Given the description of an element on the screen output the (x, y) to click on. 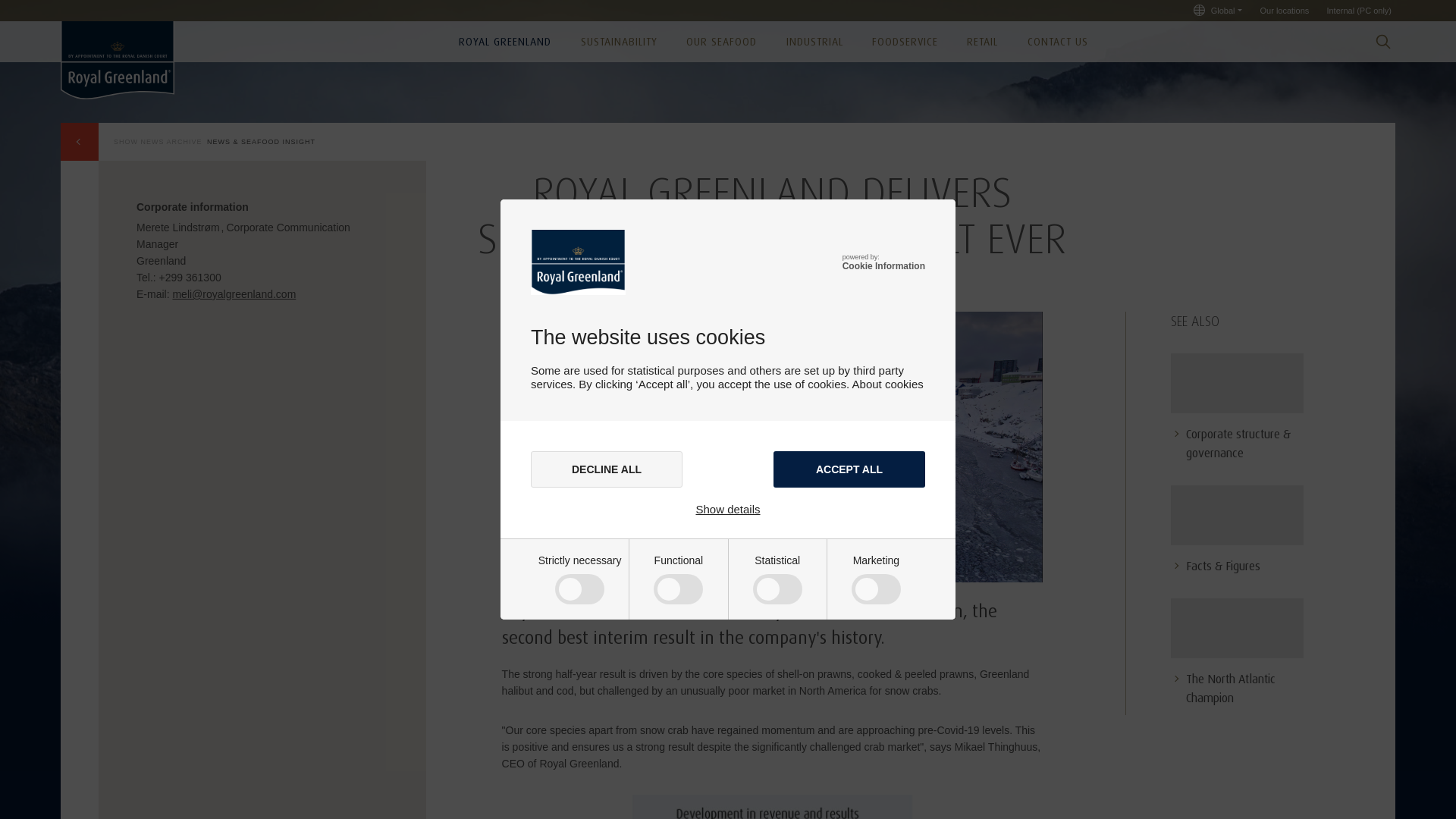
Cookie Information (883, 266)
Show details (727, 508)
About cookies (887, 383)
ACCEPT ALL (848, 469)
DECLINE ALL (606, 469)
